Given the description of an element on the screen output the (x, y) to click on. 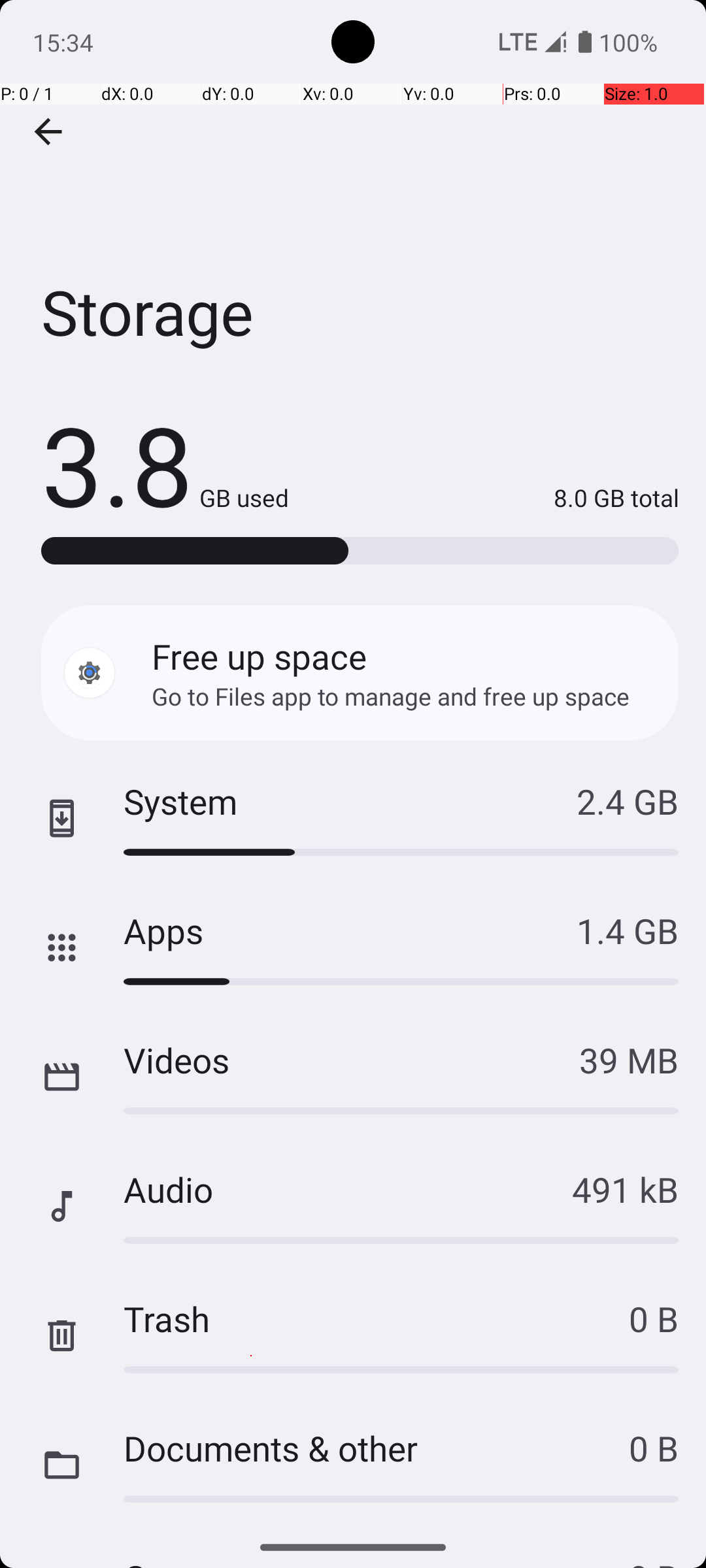
3.8 GB used Element type: android.widget.TextView (164, 463)
2.4 GB Element type: android.widget.TextView (627, 801)
1.4 GB Element type: android.widget.TextView (627, 930)
39 MB Element type: android.widget.TextView (628, 1059)
491 kB Element type: android.widget.TextView (624, 1189)
